Given the description of an element on the screen output the (x, y) to click on. 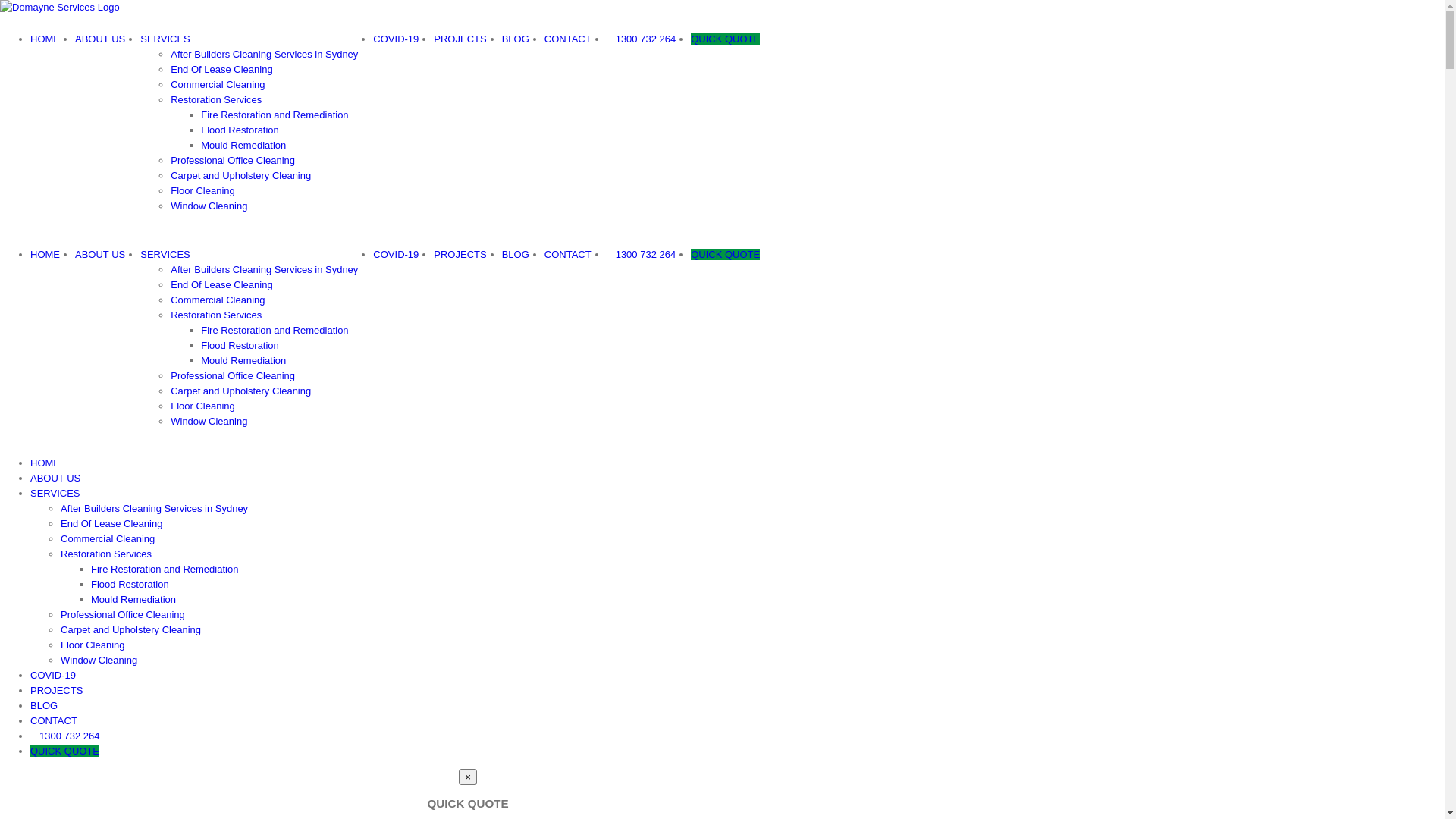
SERVICES Element type: text (55, 492)
Flood Restoration Element type: text (239, 129)
Floor Cleaning Element type: text (202, 405)
Window Cleaning Element type: text (98, 659)
QUICK QUOTE Element type: text (64, 750)
Commercial Cleaning Element type: text (217, 299)
End Of Lease Cleaning Element type: text (111, 523)
HOME Element type: text (44, 462)
Carpet and Upholstery Cleaning Element type: text (130, 629)
Restoration Services Element type: text (215, 99)
BLOG Element type: text (515, 254)
SERVICES Element type: text (165, 38)
After Builders Cleaning Services in Sydney Element type: text (153, 508)
HOME Element type: text (44, 254)
After Builders Cleaning Services in Sydney Element type: text (263, 269)
Restoration Services Element type: text (105, 553)
Professional Office Cleaning Element type: text (122, 614)
Fire Restoration and Remediation Element type: text (164, 568)
COVID-19 Element type: text (395, 38)
CONTACT Element type: text (53, 720)
Window Cleaning Element type: text (208, 205)
ABOUT US Element type: text (100, 254)
Commercial Cleaning Element type: text (107, 538)
Floor Cleaning Element type: text (202, 190)
PROJECTS Element type: text (459, 38)
COVID-19 Element type: text (52, 674)
1300 732 264 Element type: text (641, 38)
Professional Office Cleaning Element type: text (232, 160)
Mould Remediation Element type: text (242, 360)
Fire Restoration and Remediation Element type: text (274, 329)
ABOUT US Element type: text (100, 38)
1300 732 264 Element type: text (65, 735)
ABOUT US Element type: text (55, 477)
Commercial Cleaning Element type: text (217, 84)
Window Cleaning Element type: text (208, 420)
Mould Remediation Element type: text (133, 599)
Fire Restoration and Remediation Element type: text (274, 114)
Carpet and Upholstery Cleaning Element type: text (240, 390)
Mould Remediation Element type: text (242, 144)
CONTACT Element type: text (567, 38)
HOME Element type: text (44, 38)
BLOG Element type: text (43, 705)
QUICK QUOTE Element type: text (724, 254)
PROJECTS Element type: text (459, 254)
1300 732 264 Element type: text (641, 254)
Carpet and Upholstery Cleaning Element type: text (240, 175)
Restoration Services Element type: text (215, 314)
After Builders Cleaning Services in Sydney Element type: text (263, 53)
End Of Lease Cleaning Element type: text (221, 69)
Flood Restoration Element type: text (130, 583)
CONTACT Element type: text (567, 254)
QUICK QUOTE Element type: text (724, 38)
PROJECTS Element type: text (56, 690)
Flood Restoration Element type: text (239, 345)
BLOG Element type: text (515, 38)
Floor Cleaning Element type: text (92, 644)
COVID-19 Element type: text (395, 254)
End Of Lease Cleaning Element type: text (221, 284)
Professional Office Cleaning Element type: text (232, 375)
SERVICES Element type: text (165, 254)
